Given the description of an element on the screen output the (x, y) to click on. 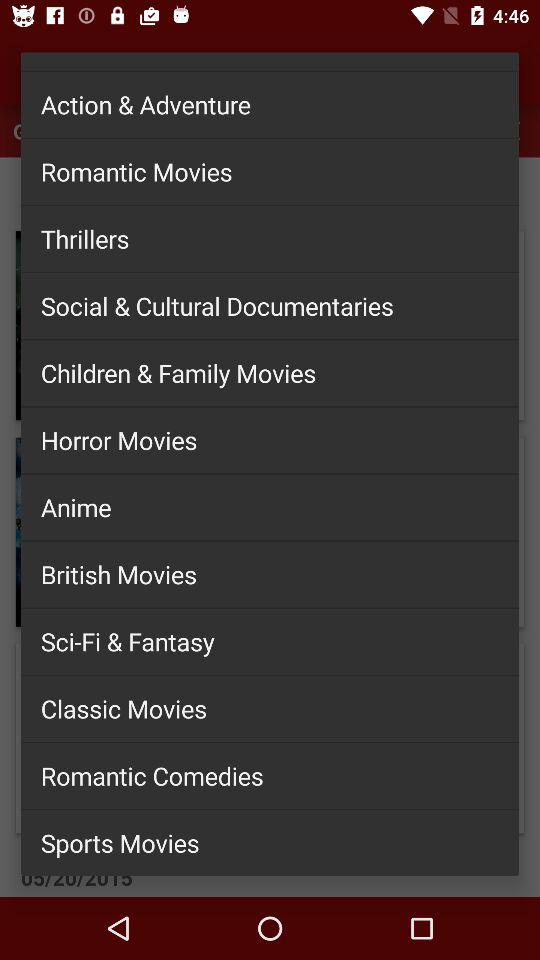
launch sports movies item (269, 842)
